Given the description of an element on the screen output the (x, y) to click on. 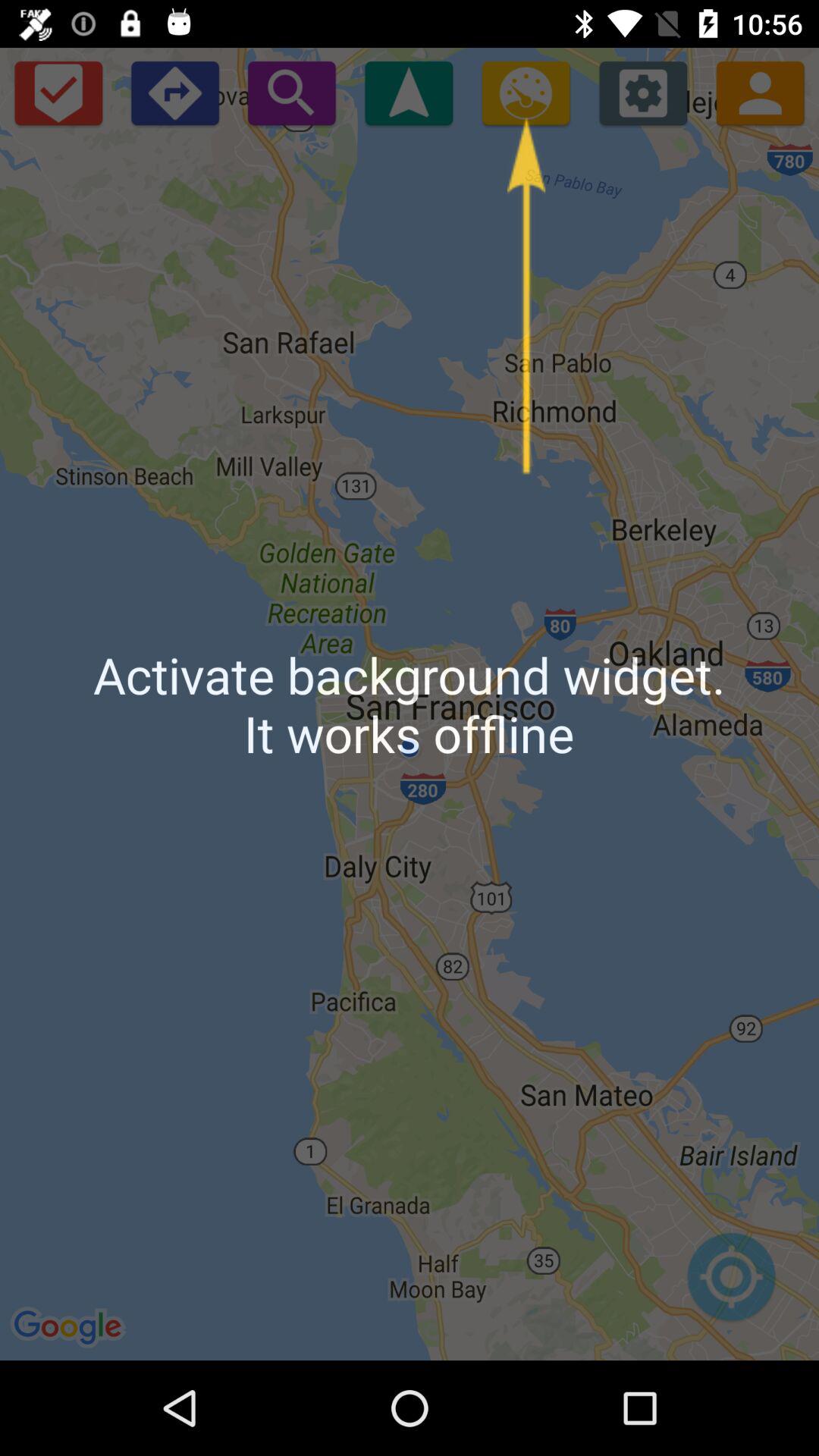
activate offline background widget (525, 92)
